Given the description of an element on the screen output the (x, y) to click on. 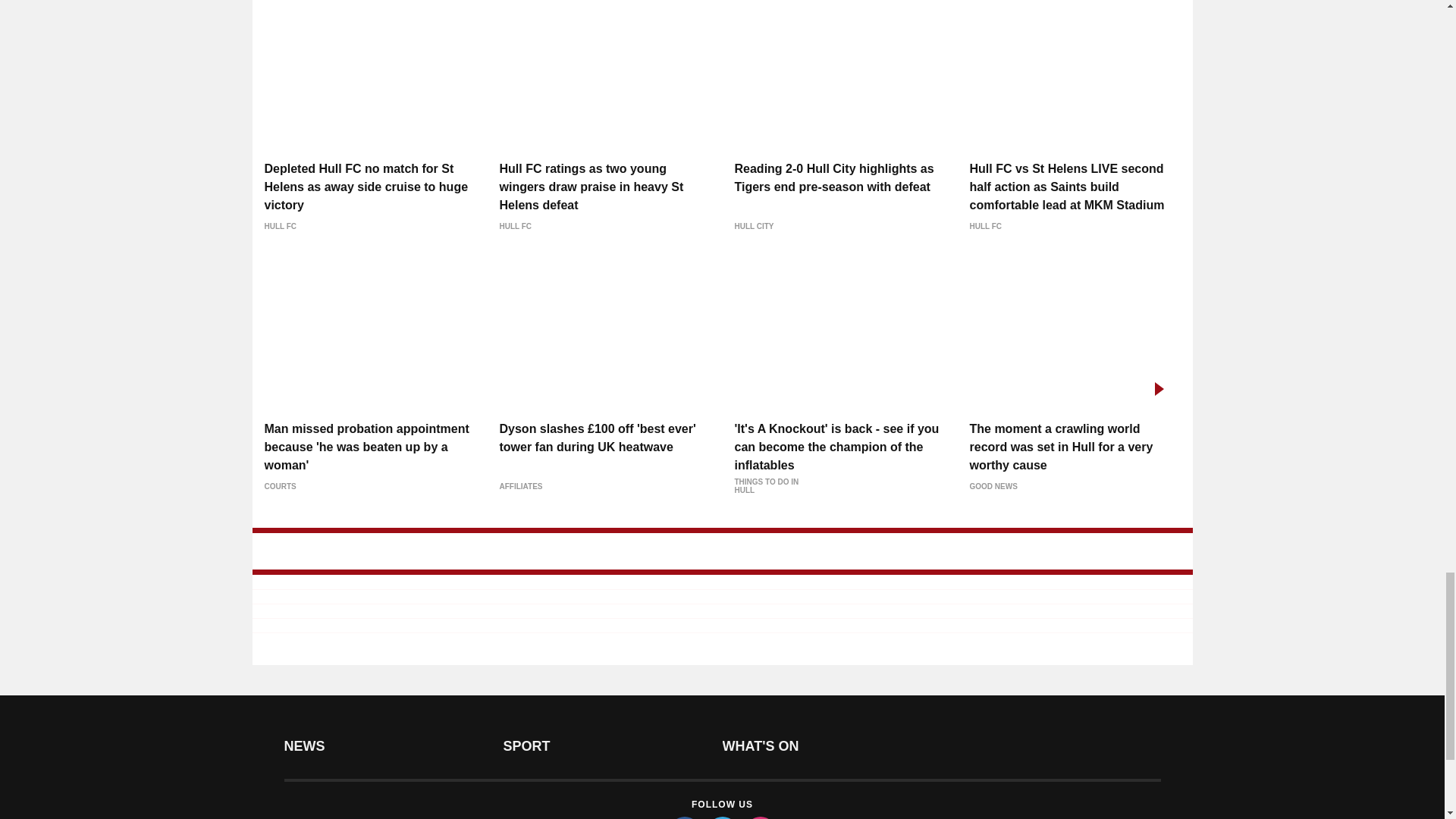
instagram (759, 817)
twitter (721, 817)
facebook (683, 817)
